Given the description of an element on the screen output the (x, y) to click on. 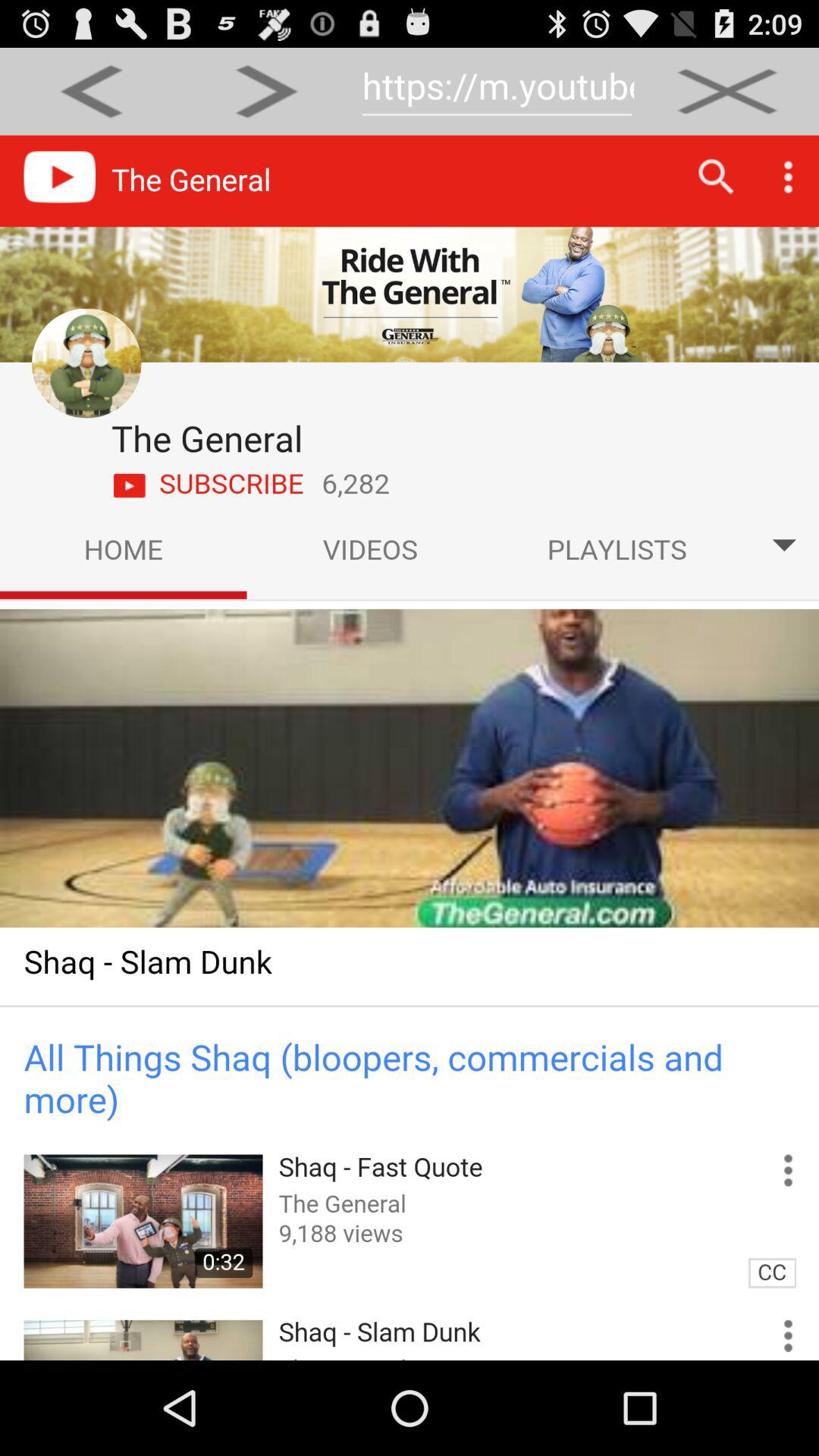
close page (727, 91)
